Given the description of an element on the screen output the (x, y) to click on. 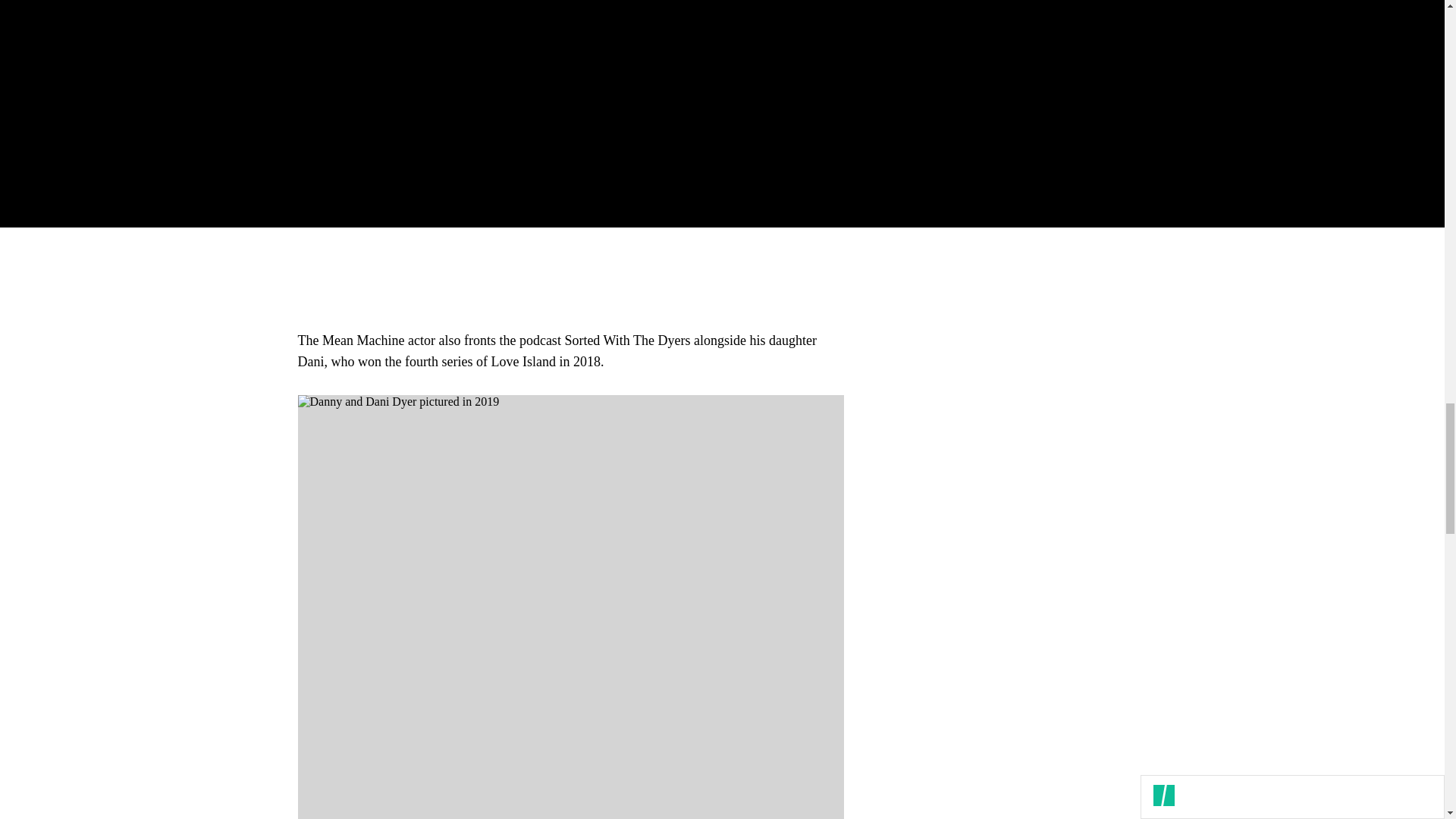
SIGN UP (1098, 116)
